Given the description of an element on the screen output the (x, y) to click on. 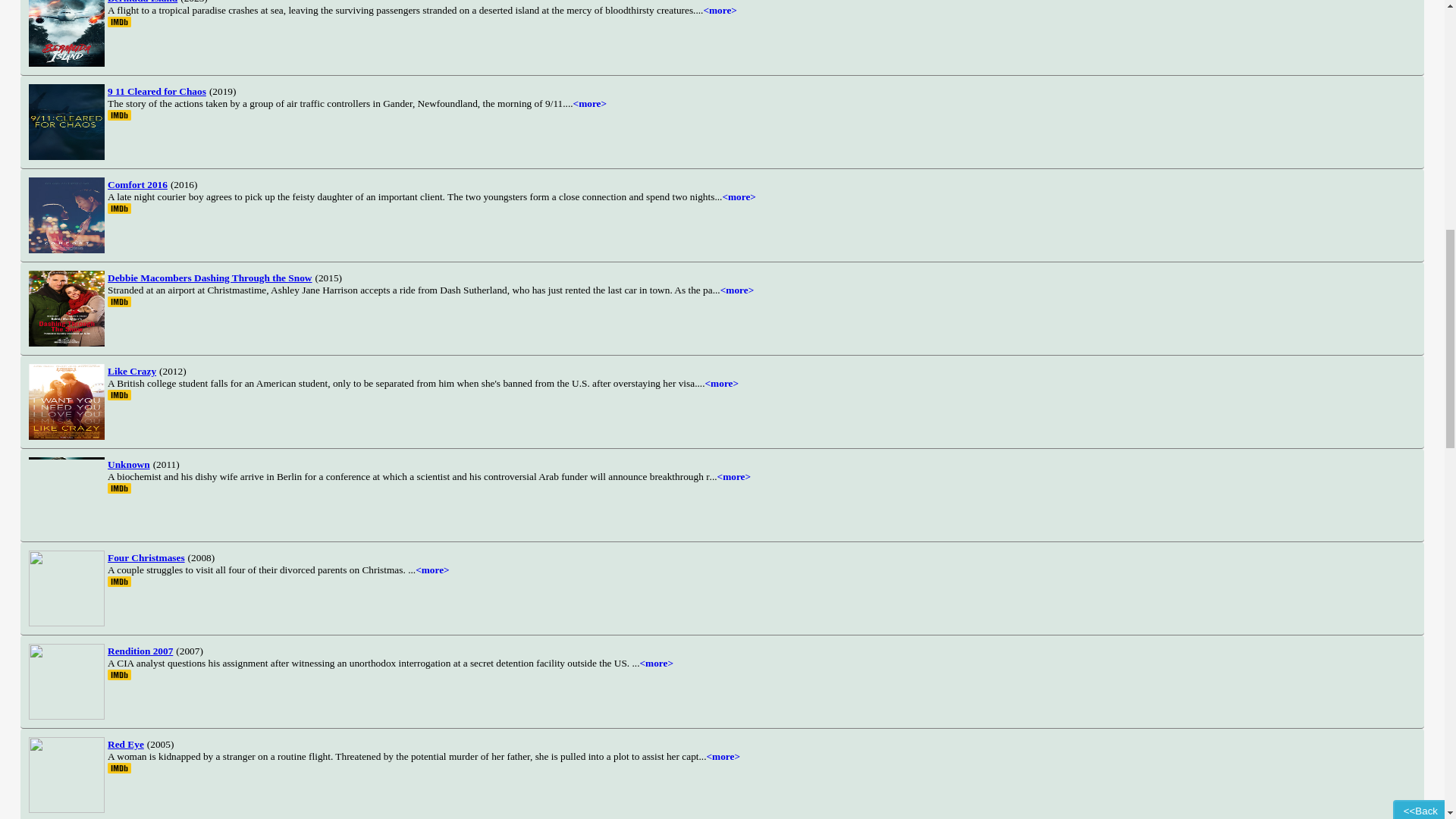
9 11 Cleared for Chaos (156, 90)
Bermuda Island (142, 2)
Comfort 2016 (137, 183)
